Given the description of an element on the screen output the (x, y) to click on. 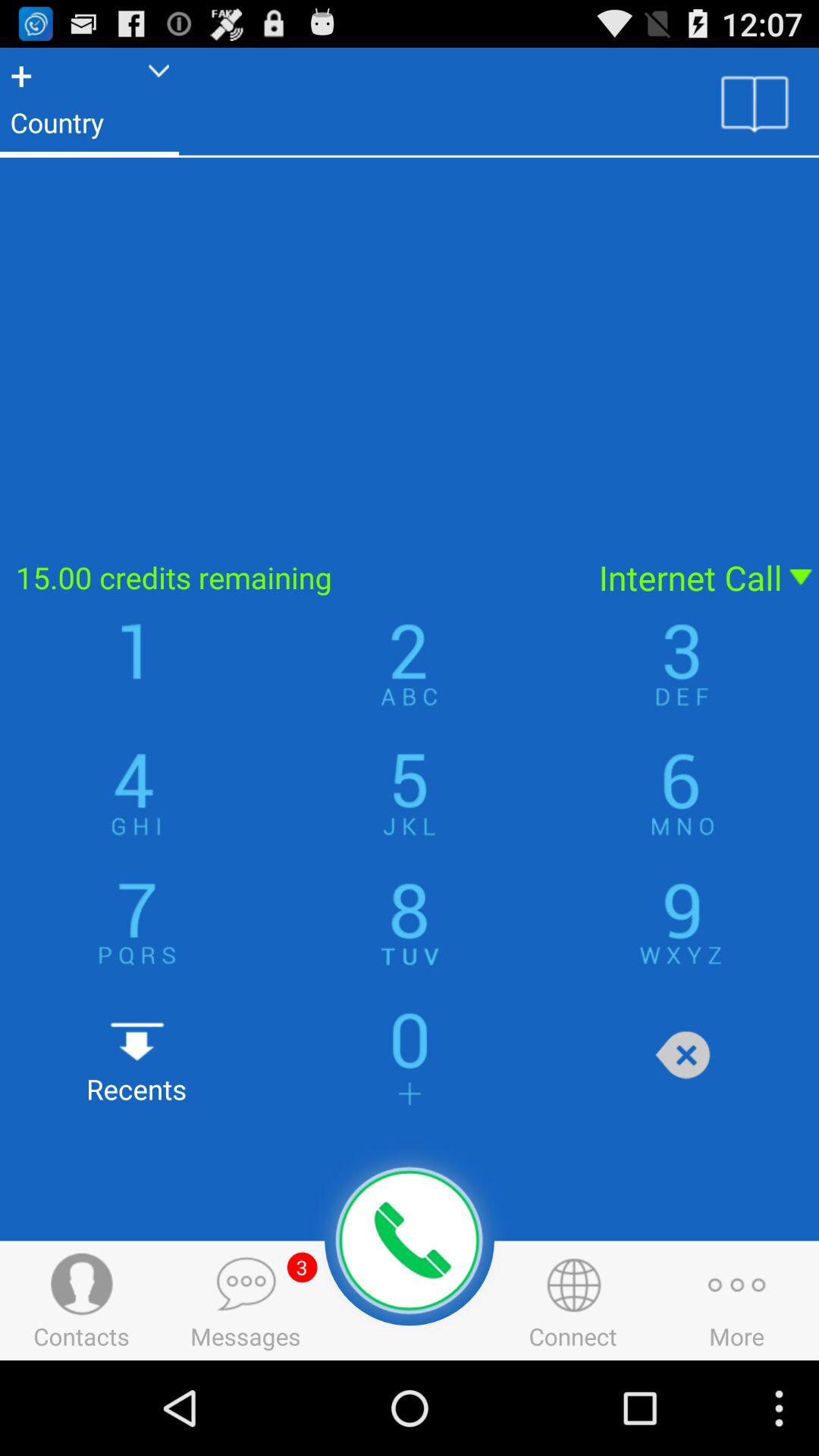
flip to the 15 00 credits (290, 577)
